Given the description of an element on the screen output the (x, y) to click on. 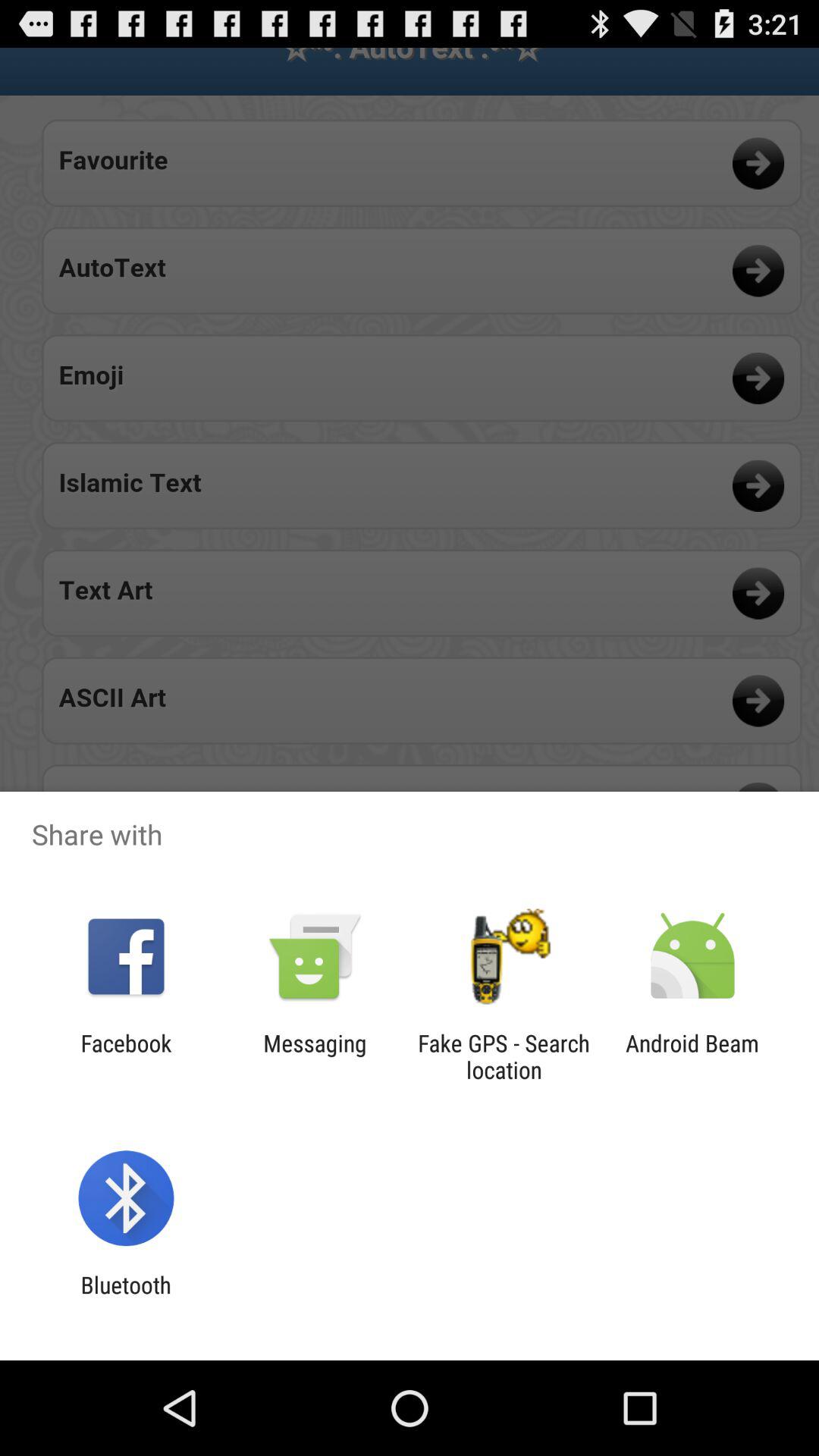
choose the icon next to the android beam app (503, 1056)
